Given the description of an element on the screen output the (x, y) to click on. 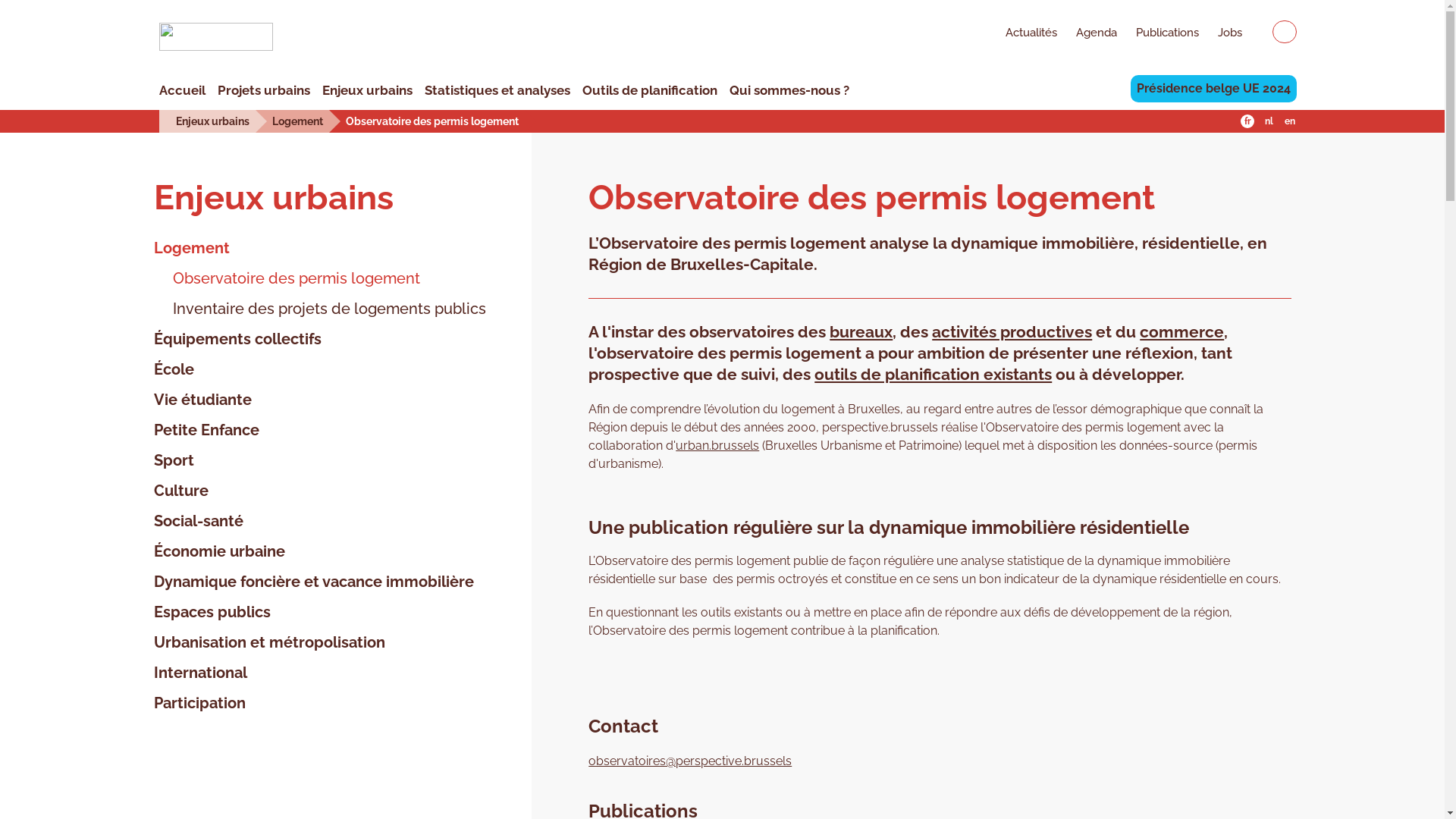
Publications Element type: text (1157, 33)
Culture Element type: text (180, 490)
nl Element type: text (1268, 121)
Logement Element type: text (191, 247)
observatoires@perspective.brussels Element type: text (689, 760)
Participation Element type: text (198, 702)
Outils de planification Element type: text (649, 89)
fr Element type: text (1247, 121)
Enjeux urbains Element type: text (367, 89)
Accueil Element type: text (182, 89)
International Element type: text (199, 672)
Agenda Element type: text (1087, 33)
Sport Element type: text (173, 460)
Petite Enfance Element type: text (205, 429)
Qui sommes-nous ? Element type: text (789, 89)
Espaces publics Element type: text (211, 611)
Logement Element type: text (297, 120)
Enjeux urbains Element type: text (212, 120)
bureaux Element type: text (860, 331)
Projets urbains Element type: text (263, 89)
Observatoire des permis logement Element type: text (431, 120)
urban.brussels Element type: text (717, 445)
outils de planification existants Element type: text (932, 373)
Inventaire des projets de logements publics Element type: text (319, 308)
Appliquer Element type: text (1284, 31)
commerce Element type: text (1181, 331)
Jobs Element type: text (1220, 33)
Observatoire des permis logement Element type: text (286, 278)
en Element type: text (1289, 121)
Statistiques et analyses Element type: text (497, 89)
